Given the description of an element on the screen output the (x, y) to click on. 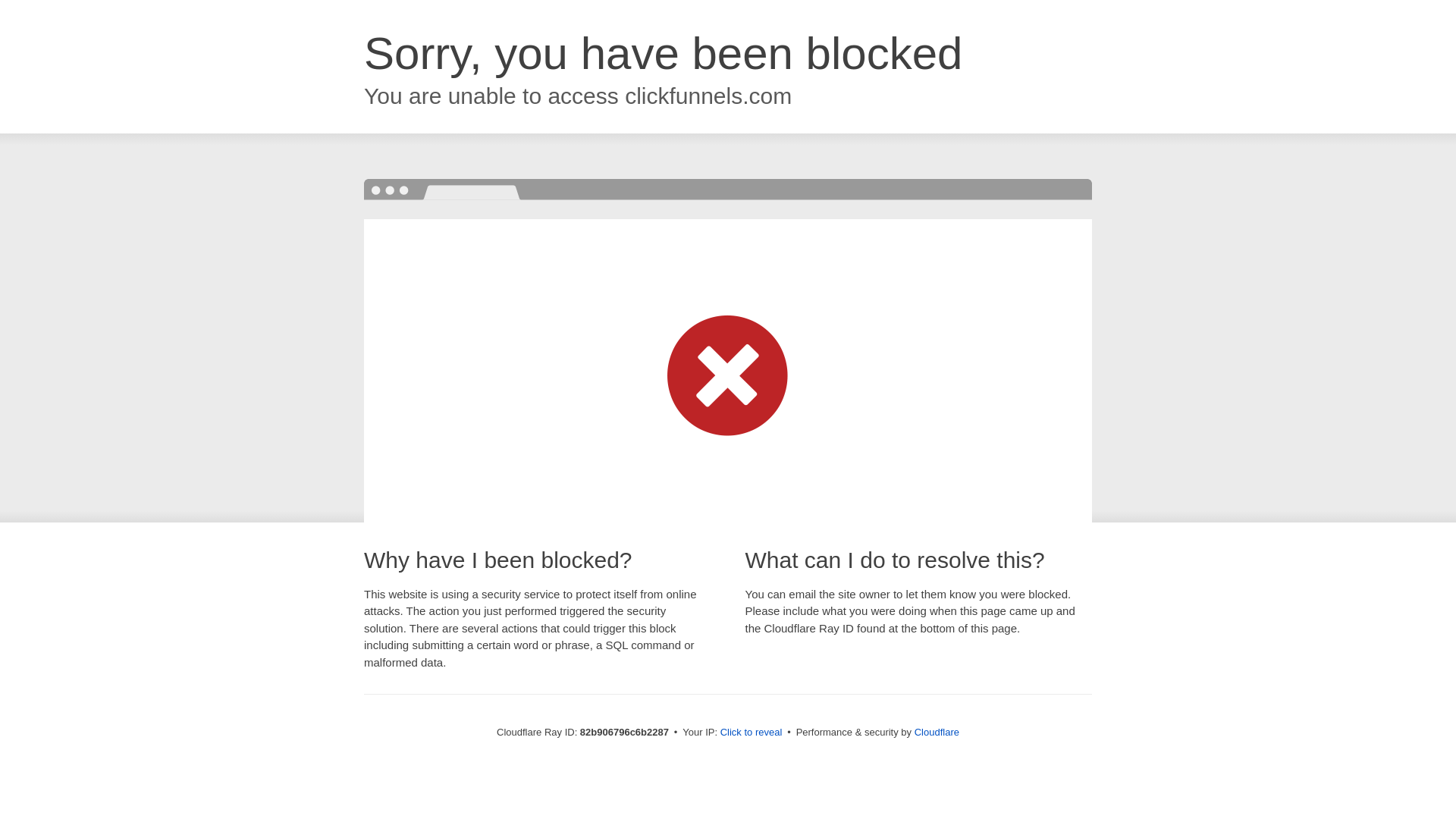
Cloudflare Element type: text (936, 731)
Click to reveal Element type: text (751, 732)
